Given the description of an element on the screen output the (x, y) to click on. 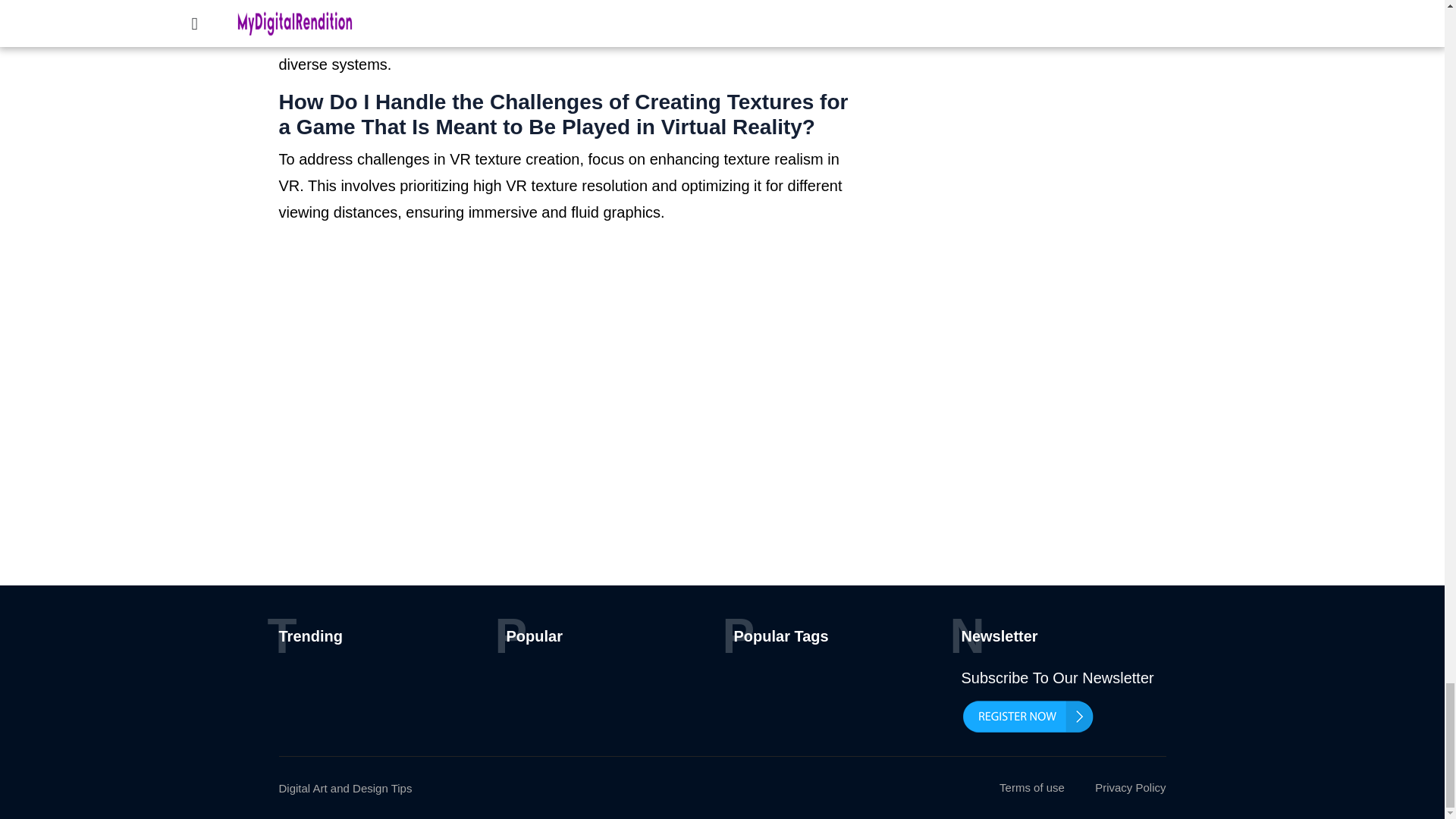
Privacy Policy (1130, 787)
Terms of use (1031, 787)
